Given the description of an element on the screen output the (x, y) to click on. 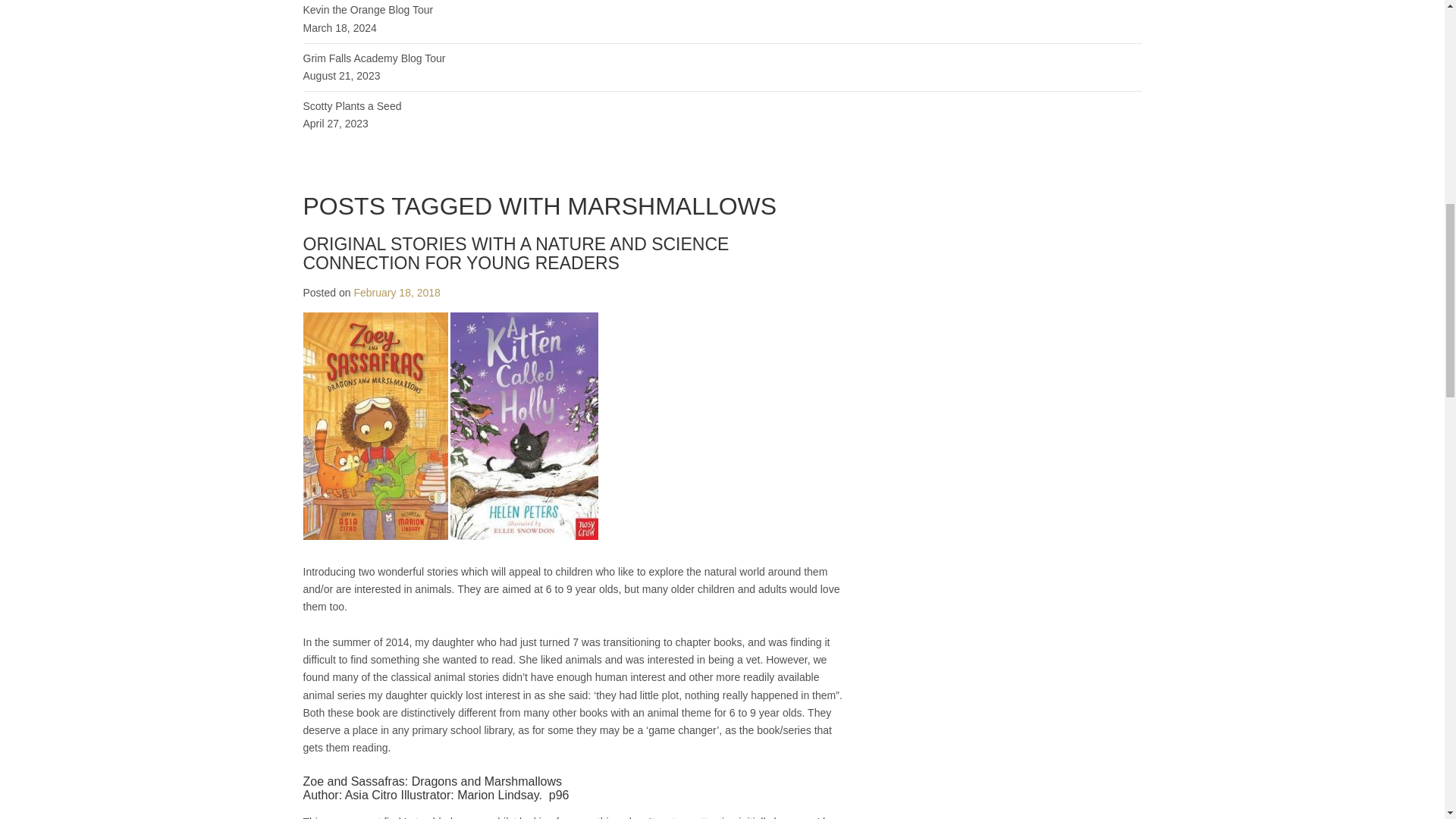
Kevin the Orange Blog Tour (367, 9)
Scotty Plants a Seed (351, 105)
Grim Falls Academy Blog Tour (373, 58)
February 18, 2018 (396, 292)
